Given the description of an element on the screen output the (x, y) to click on. 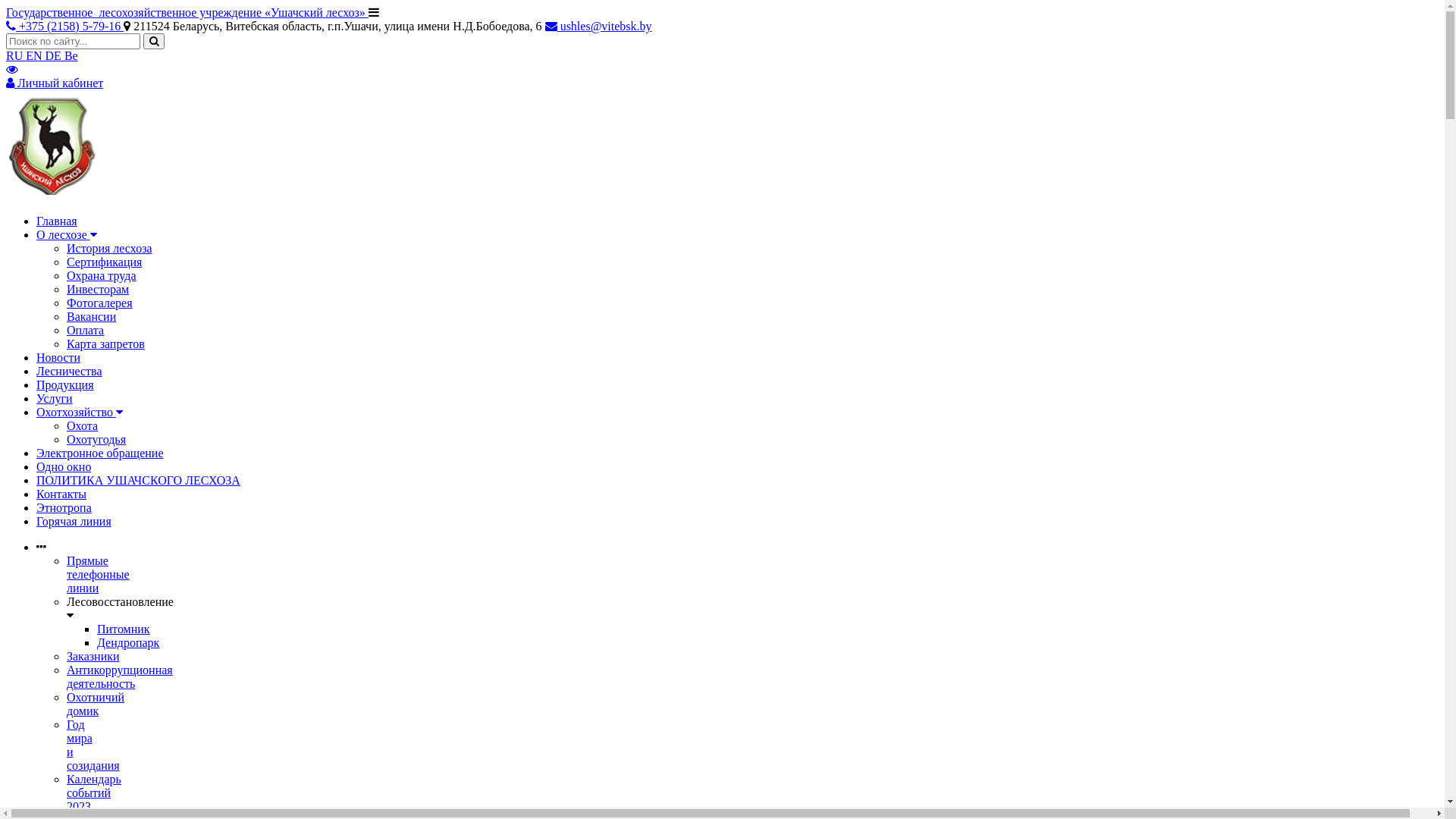
EN Element type: text (34, 55)
DE Element type: text (54, 55)
RU Element type: text (15, 55)
Be Element type: text (71, 55)
+375 (2158) 5-79-16 Element type: text (64, 25)
ushles@vitebsk.by Element type: text (598, 25)
